Given the description of an element on the screen output the (x, y) to click on. 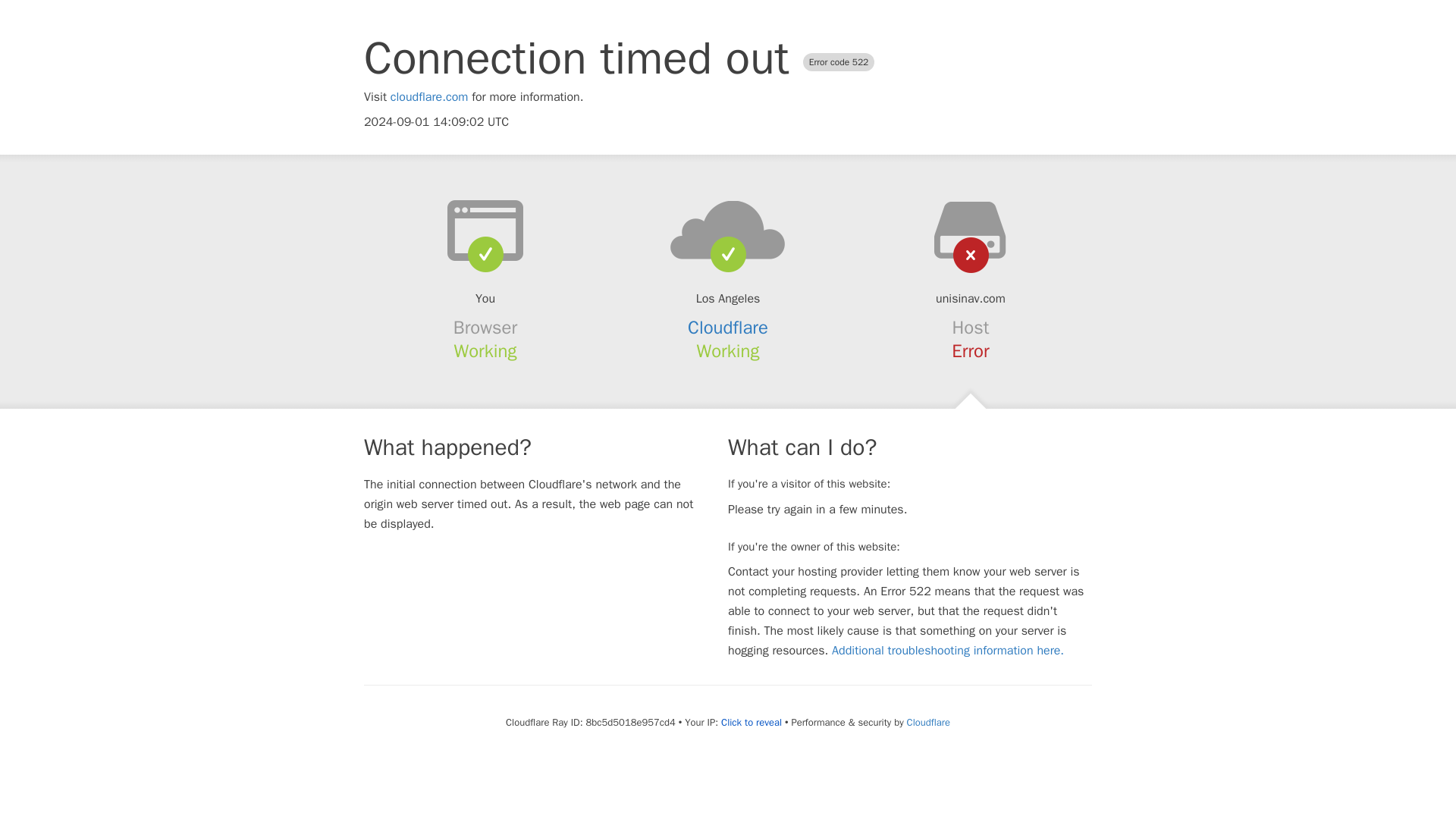
Cloudflare (928, 721)
cloudflare.com (429, 96)
Cloudflare (727, 327)
Click to reveal (750, 722)
Additional troubleshooting information here. (947, 650)
